Given the description of an element on the screen output the (x, y) to click on. 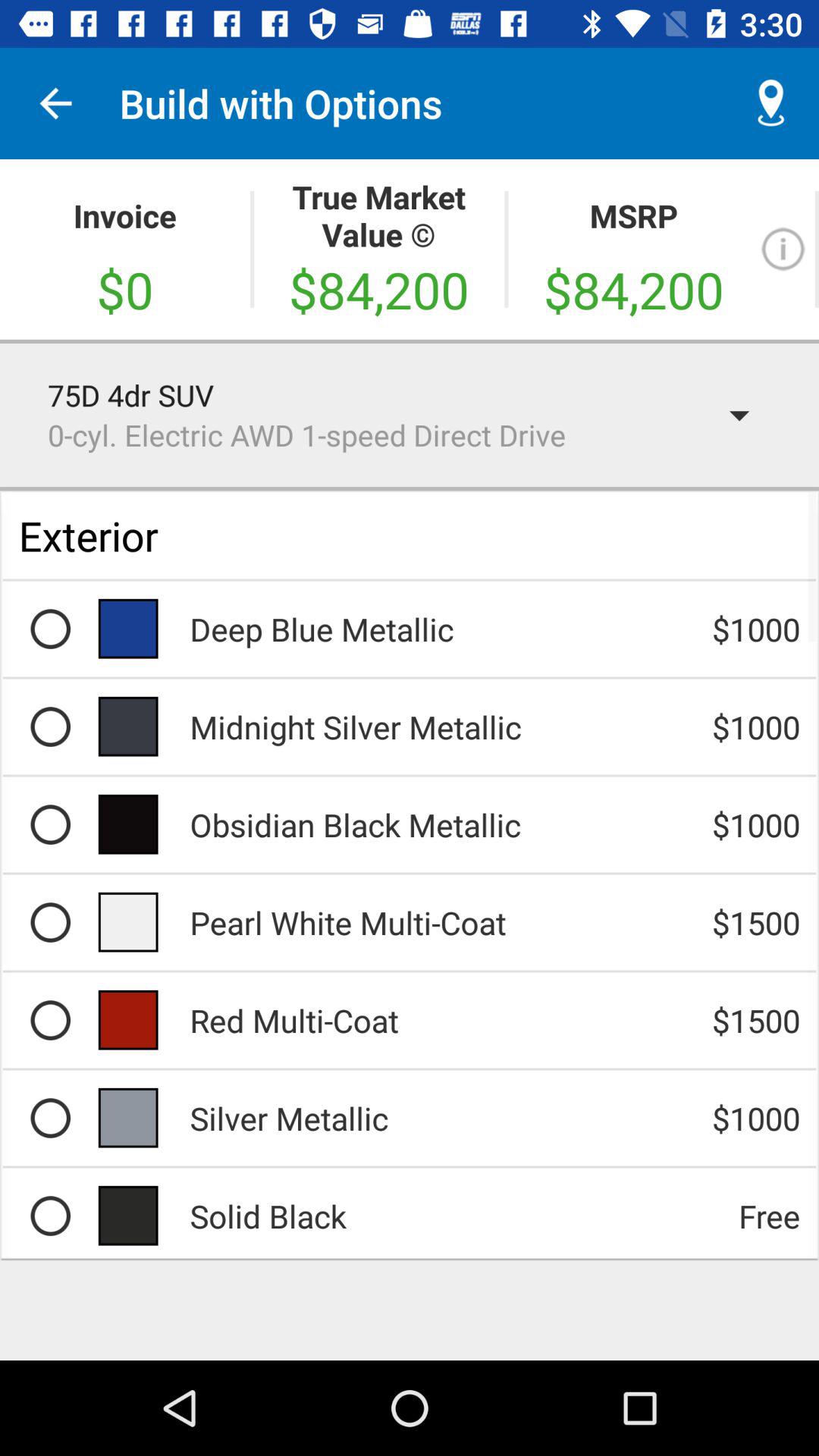
select color (50, 1215)
